Given the description of an element on the screen output the (x, y) to click on. 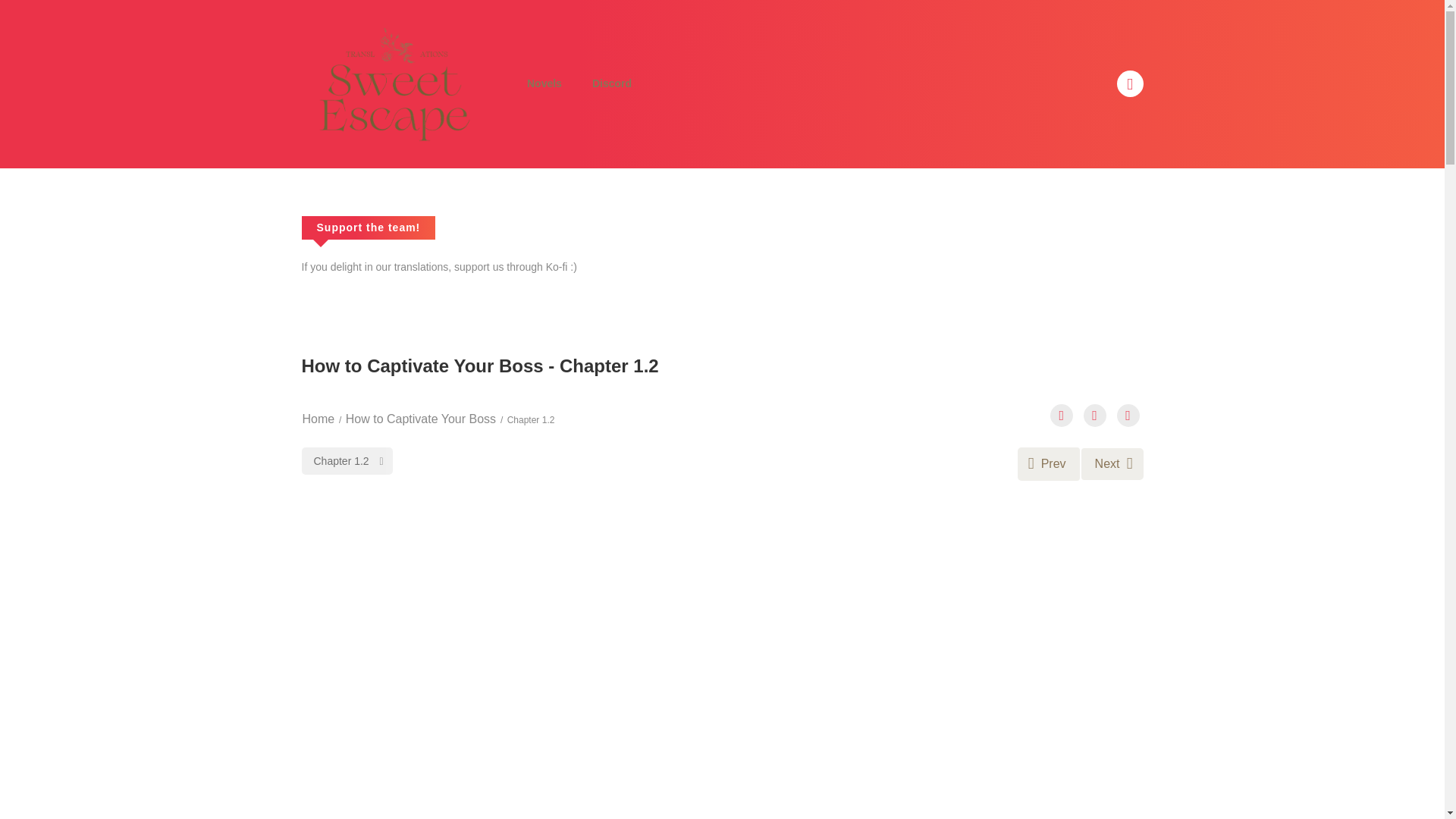
Novels (544, 83)
Discord (611, 83)
Search (970, 9)
Sweet Escape (389, 82)
Home (317, 418)
Chapter 2.1 (1111, 463)
Advertisement (722, 778)
Prev (1048, 463)
How to Captivate Your Boss (421, 418)
Chapter 1.1 (1048, 463)
Next (1111, 463)
